Given the description of an element on the screen output the (x, y) to click on. 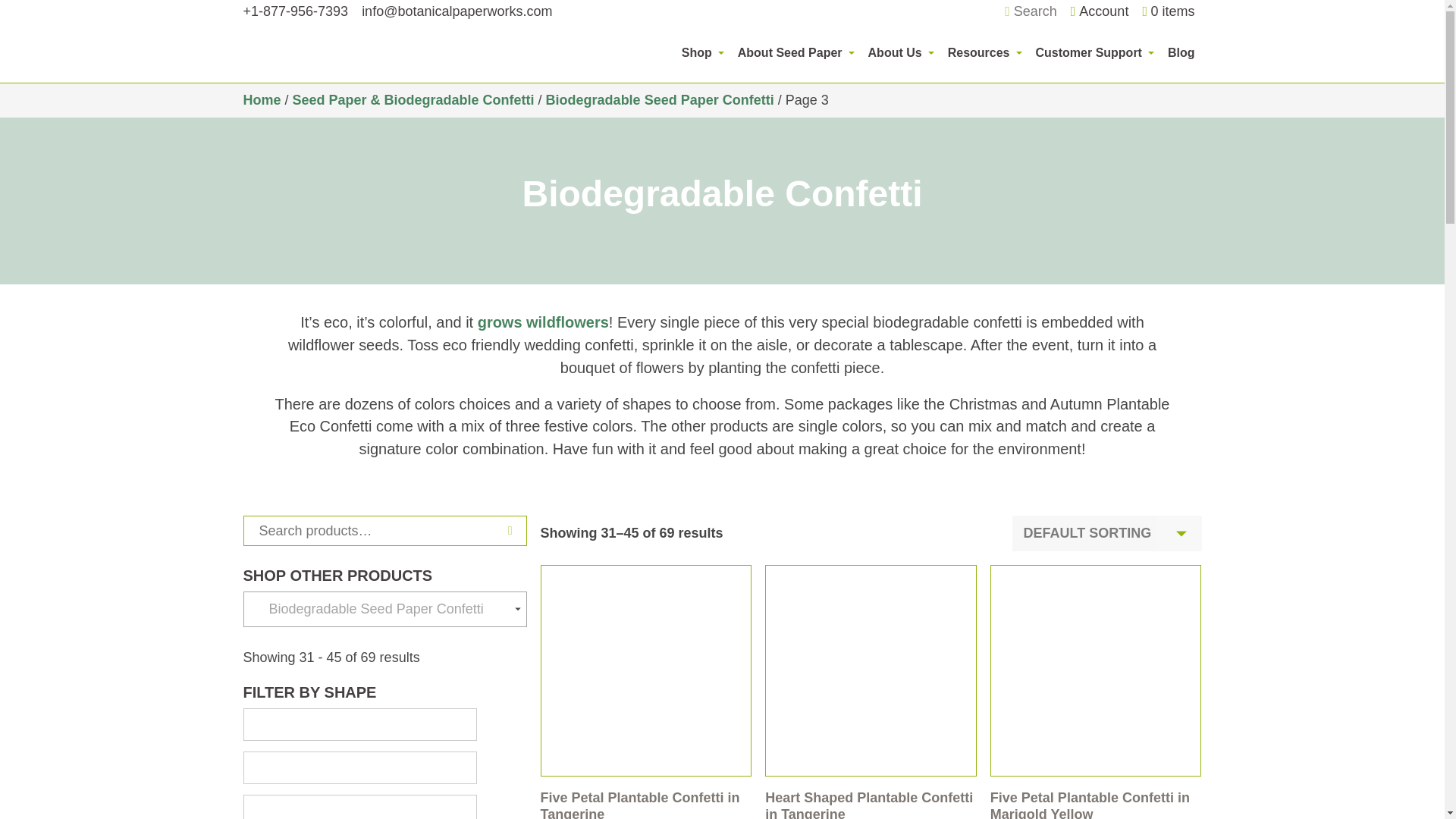
Search (1030, 11)
0 items (1167, 11)
Start shopping (1167, 11)
Account (1099, 10)
Shop (702, 52)
